Given the description of an element on the screen output the (x, y) to click on. 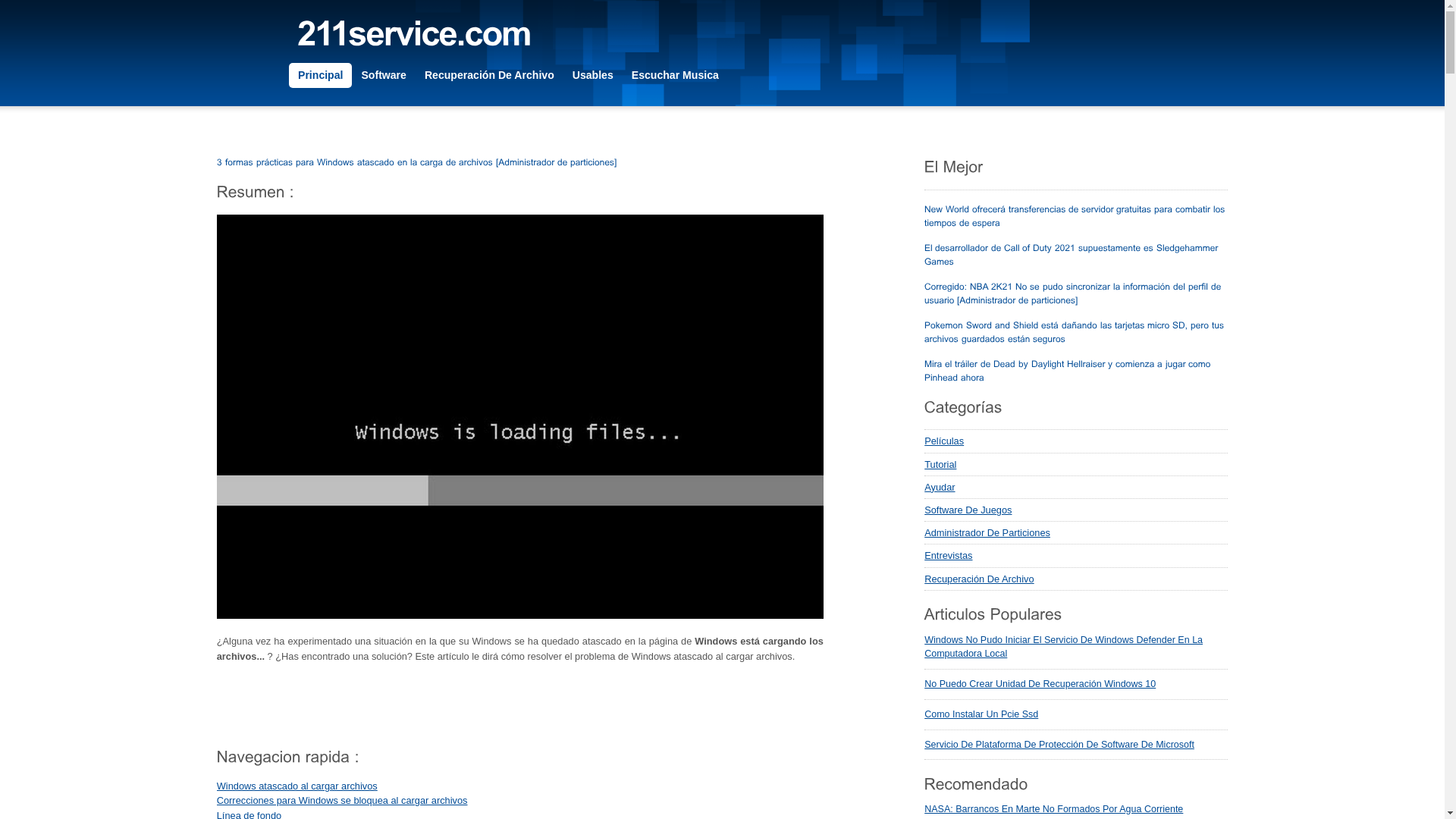
Software De Juegos Element type: text (1075, 509)
Usables Element type: text (592, 74)
Como Instalar Un Pcie Ssd Element type: text (981, 714)
Ayudar Element type: text (1075, 487)
Windows atascado al cargar archivos Element type: text (296, 785)
NASA: Barrancos En Marte No Formados Por Agua Corriente Element type: text (1053, 808)
Escuchar Musica Element type: text (675, 74)
Principal Element type: text (319, 74)
Entrevistas Element type: text (1075, 555)
Software Element type: text (382, 74)
Administrador De Particiones Element type: text (1075, 532)
Tutorial Element type: text (1075, 464)
Correcciones para Windows se bloquea al cargar archivos Element type: text (341, 800)
